Given the description of an element on the screen output the (x, y) to click on. 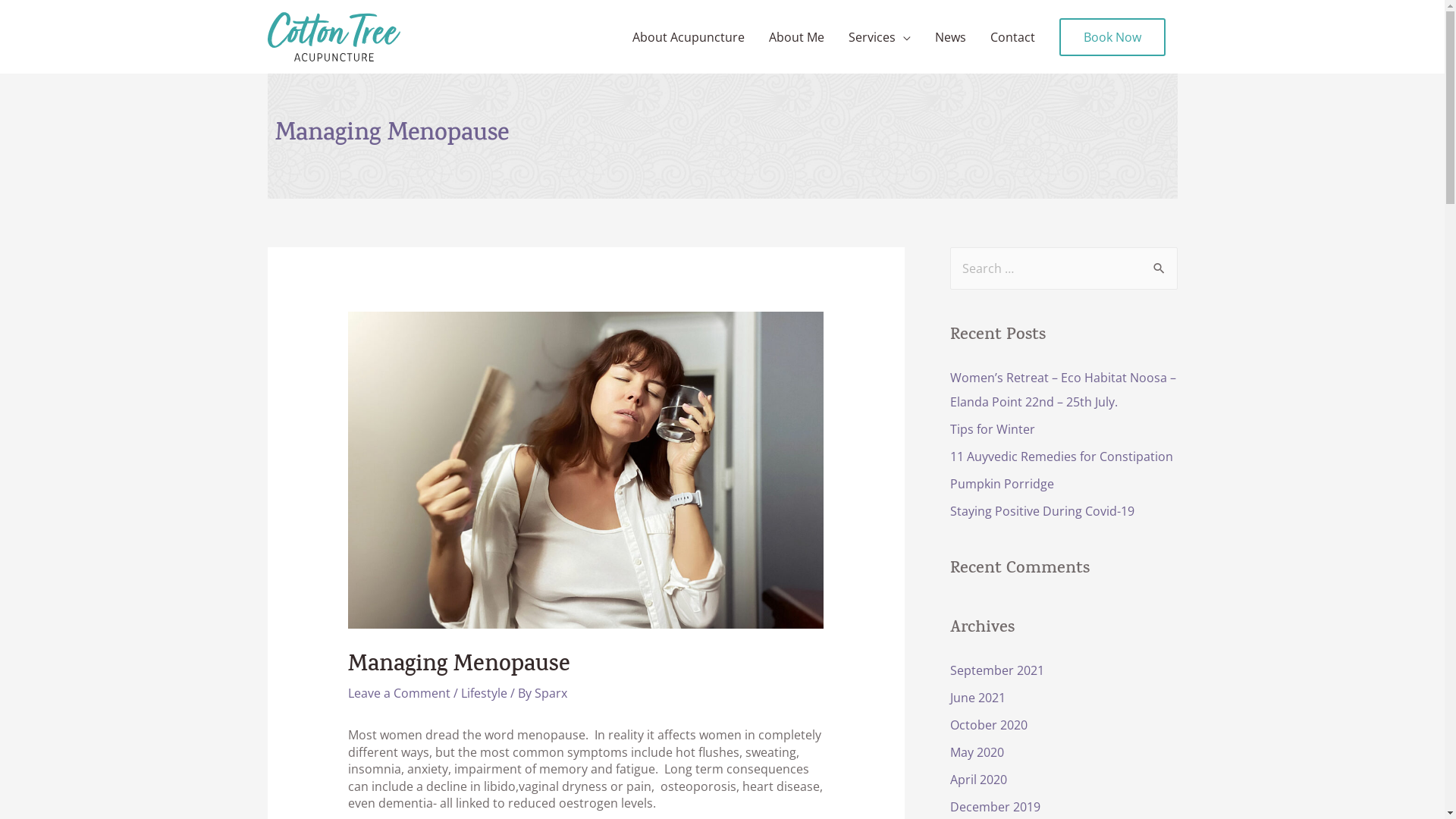
Sparx Element type: text (550, 692)
May 2020 Element type: text (976, 751)
Leave a Comment Element type: text (399, 692)
Contact Element type: text (1012, 36)
Book Now Element type: text (1111, 37)
News Element type: text (949, 36)
11 Auyvedic Remedies for Constipation Element type: text (1060, 456)
September 2021 Element type: text (996, 670)
April 2020 Element type: text (977, 779)
Tips for Winter Element type: text (991, 428)
Staying Positive During Covid-19 Element type: text (1041, 510)
About Me Element type: text (796, 36)
October 2020 Element type: text (987, 724)
Services Element type: text (878, 36)
June 2021 Element type: text (976, 697)
Lifestyle Element type: text (484, 692)
About Acupuncture Element type: text (688, 36)
December 2019 Element type: text (994, 806)
Search Element type: text (1160, 263)
Pumpkin Porridge Element type: text (1001, 483)
